Given the description of an element on the screen output the (x, y) to click on. 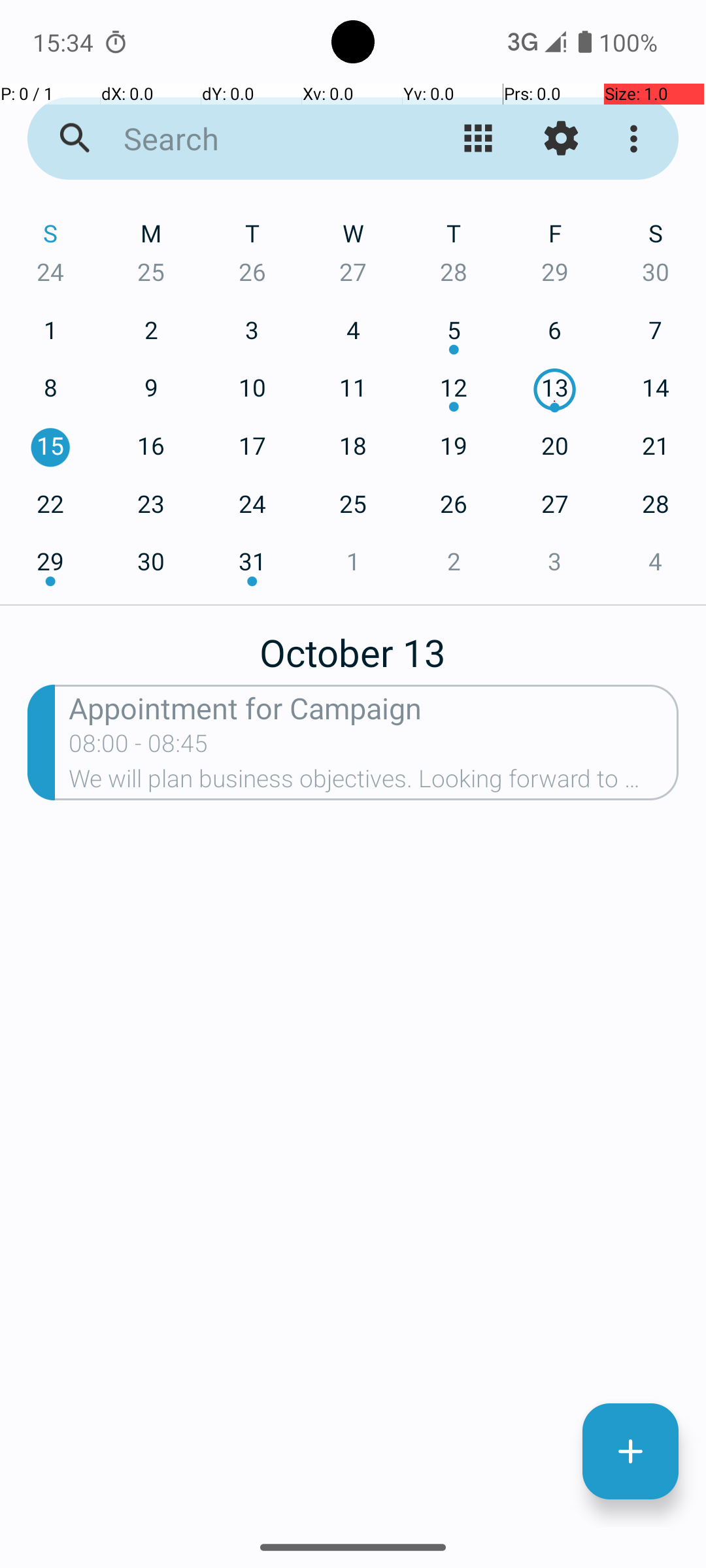
October 13 Element type: android.widget.TextView (352, 644)
Appointment for Campaign Element type: android.widget.TextView (373, 706)
08:00 - 08:45 Element type: android.widget.TextView (137, 747)
We will plan business objectives. Looking forward to productive discussions. Element type: android.widget.TextView (373, 782)
